Given the description of an element on the screen output the (x, y) to click on. 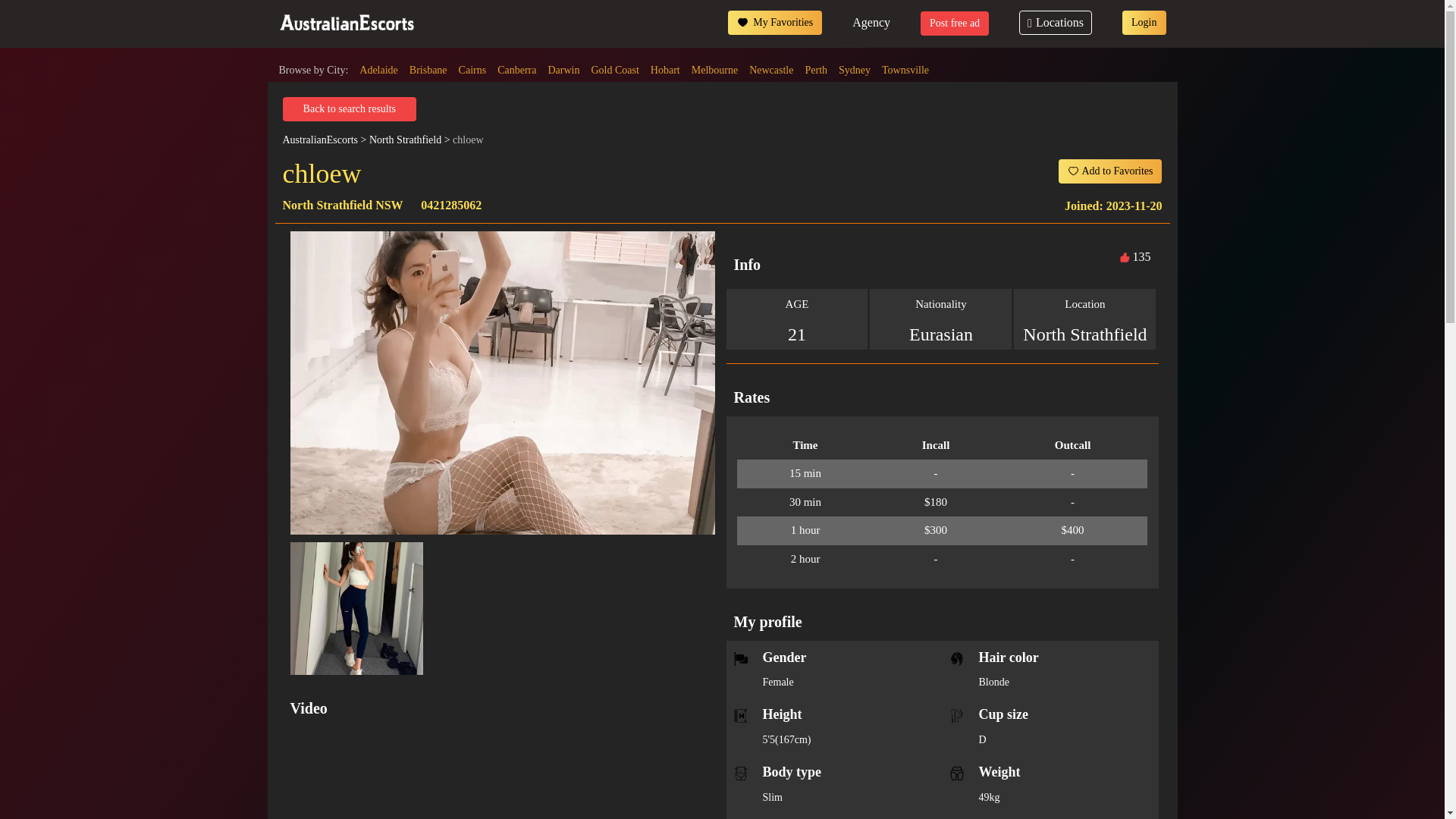
Login (1144, 22)
Post free ad (954, 22)
Post free ad (954, 23)
